Given the description of an element on the screen output the (x, y) to click on. 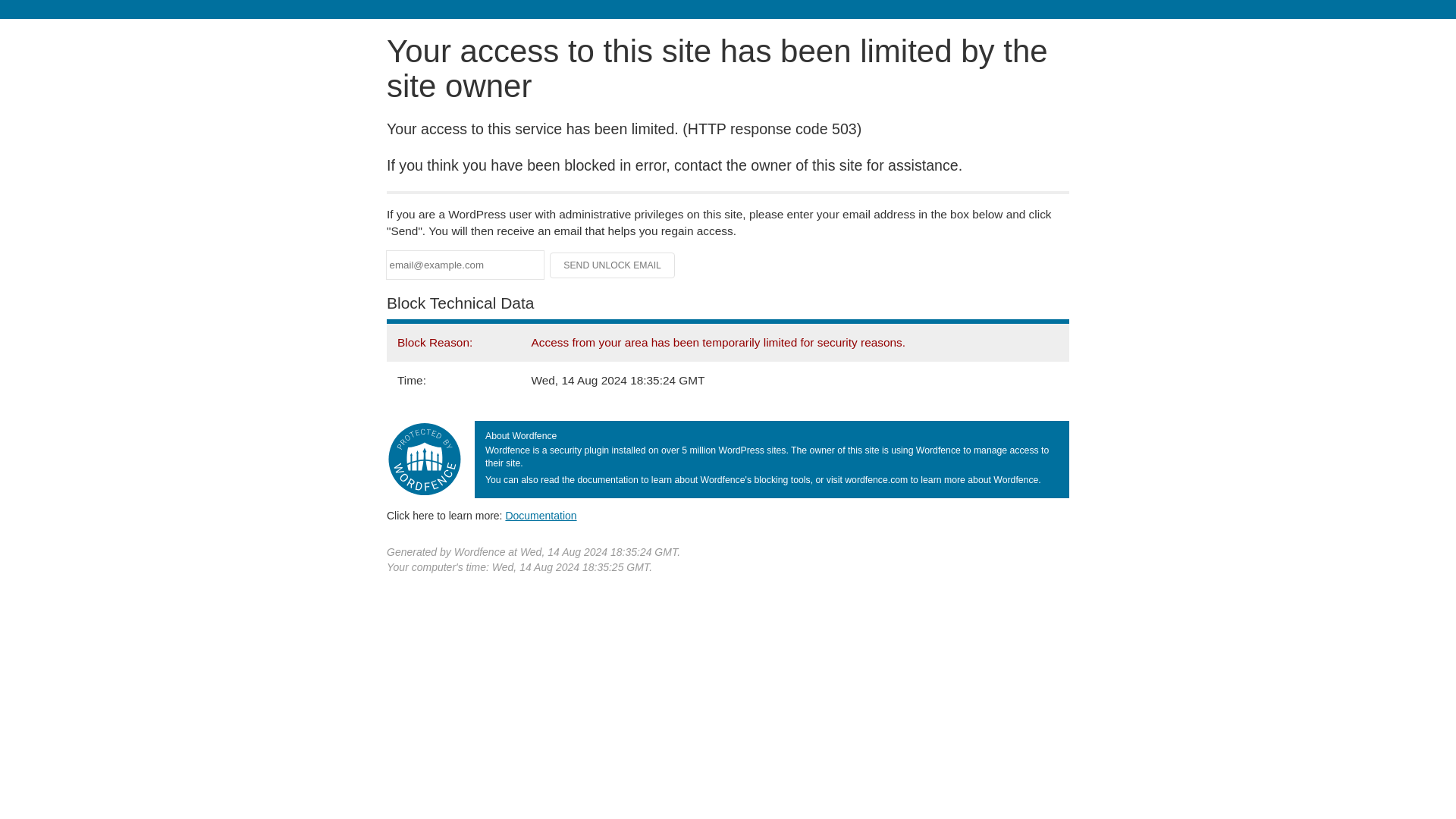
Send Unlock Email (612, 265)
Documentation (540, 515)
Send Unlock Email (612, 265)
